Given the description of an element on the screen output the (x, y) to click on. 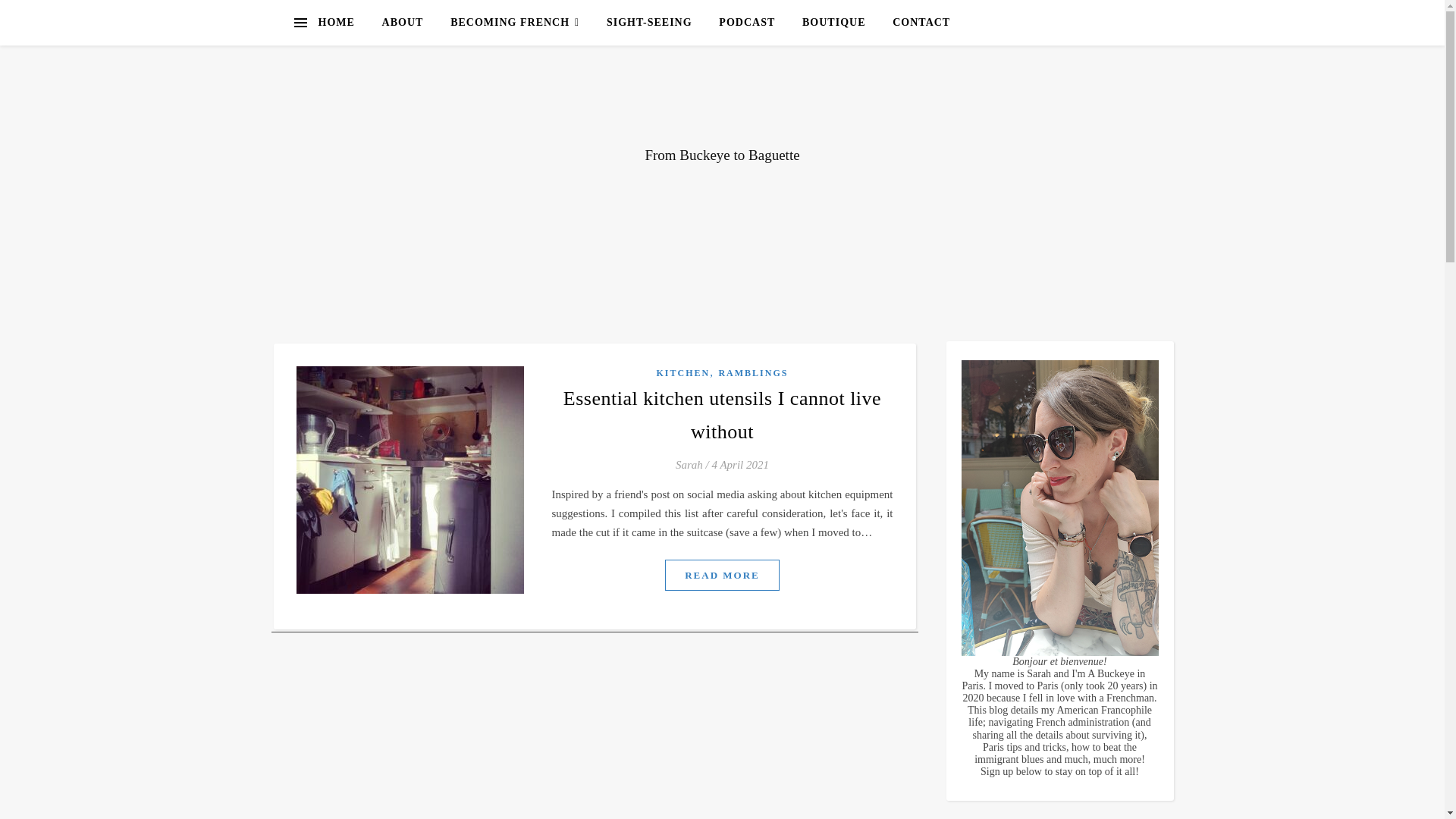
HOME (342, 22)
CONTACT (915, 22)
READ MORE (721, 574)
ABOUT (402, 22)
PODCAST (746, 22)
RAMBLINGS (752, 372)
Posts by Sarah (689, 464)
KITCHEN (683, 372)
BOUTIQUE (833, 22)
SIGHT-SEEING (649, 22)
